Given the description of an element on the screen output the (x, y) to click on. 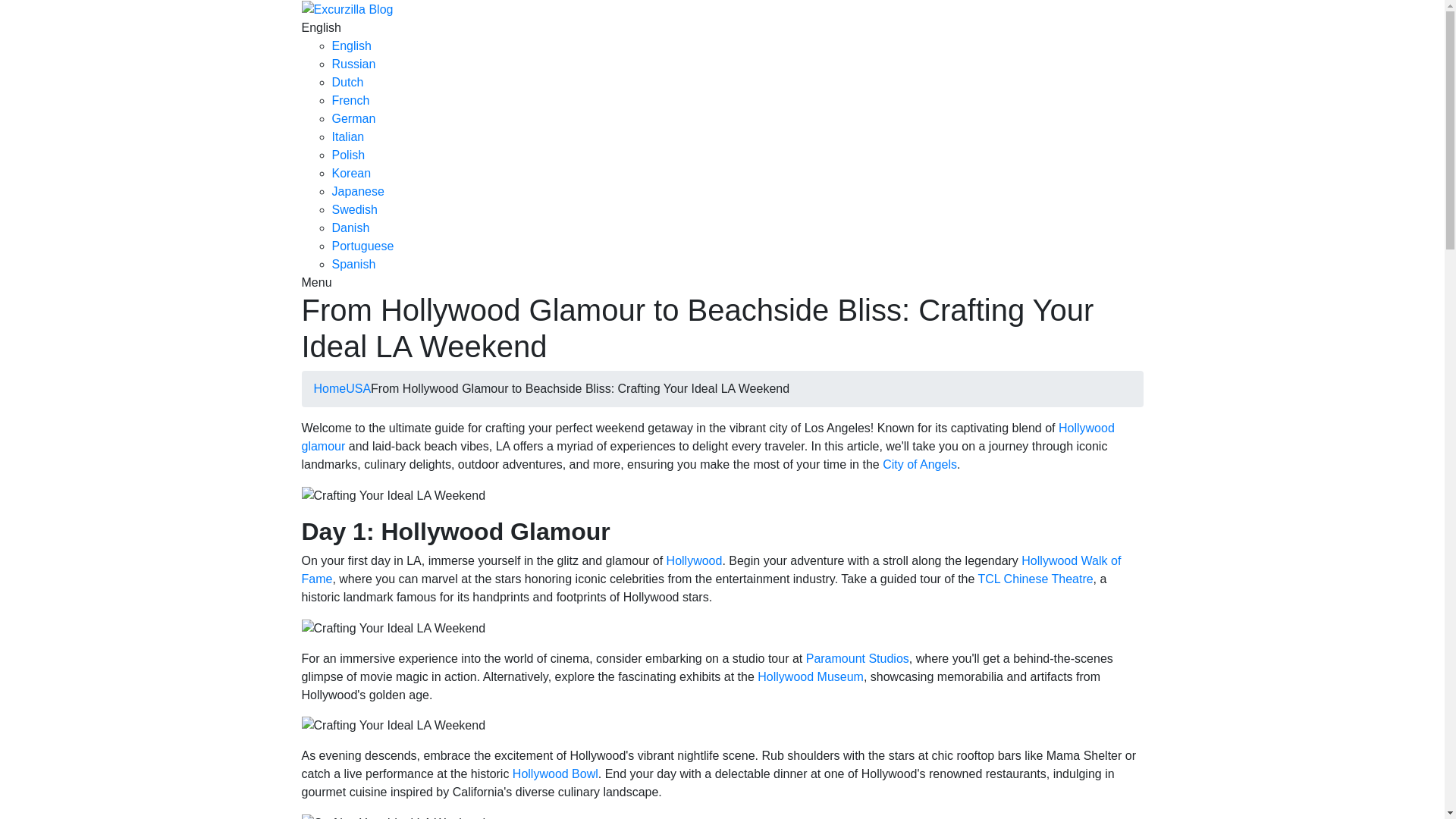
Dutch (347, 82)
Crafting Your Ideal LA Weekend (393, 816)
Swedish (354, 209)
Paramount Studios (857, 658)
City of Angels (919, 463)
German (353, 118)
English (320, 27)
French (350, 100)
TCL Chinese Theatre (1035, 578)
Hollywood glamour (708, 436)
Italian (348, 136)
Hollywood Museum (810, 676)
Korean (351, 173)
Crafting Your Ideal LA Weekend (393, 495)
Japanese (357, 191)
